Given the description of an element on the screen output the (x, y) to click on. 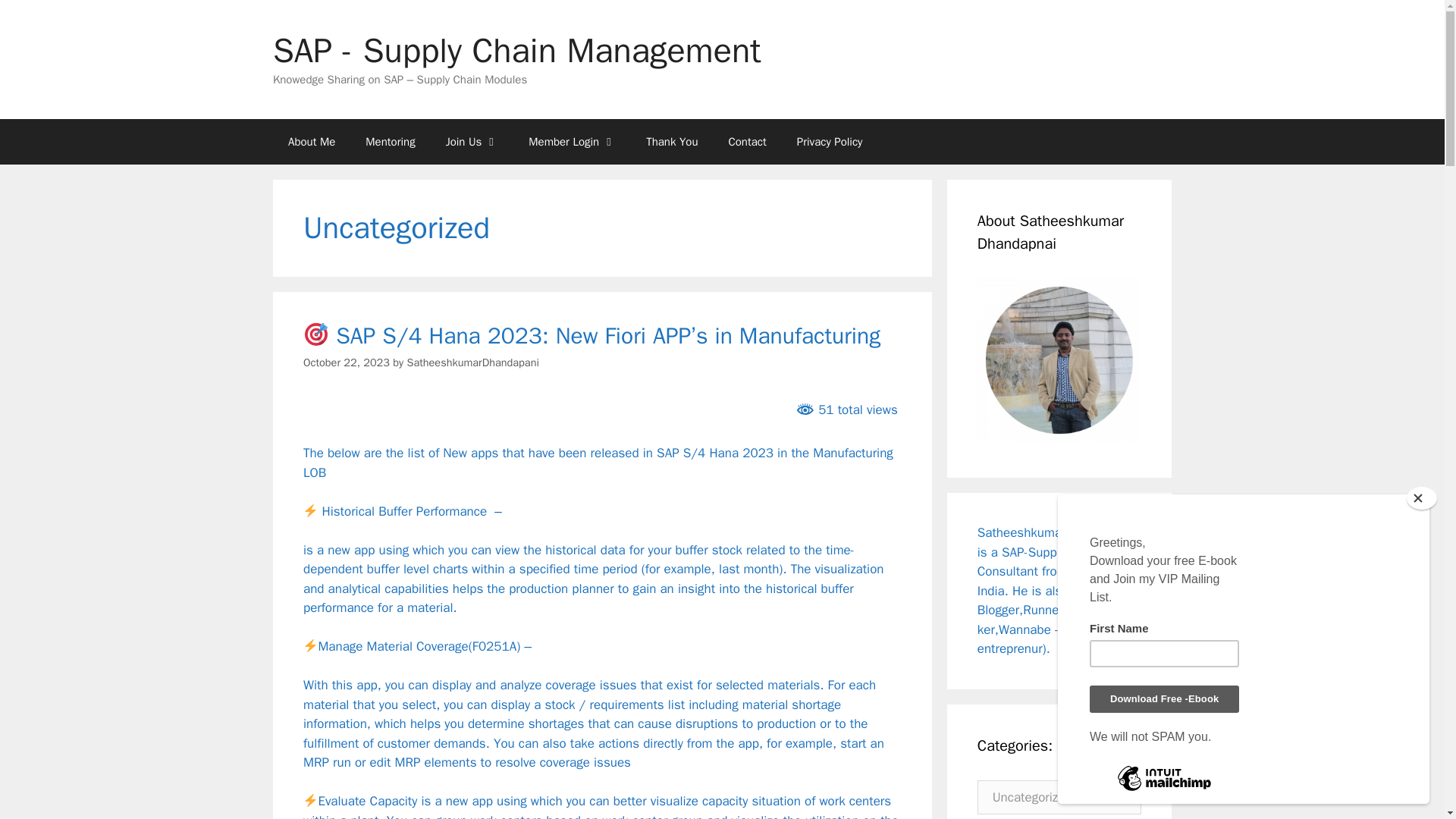
October 22, 2023 (346, 362)
SatheeshkumarDhandapani (472, 362)
About Me (311, 140)
Contact (746, 140)
View all posts by SatheeshkumarDhandapani (472, 362)
Join Us (471, 140)
7:55 am (346, 362)
Member Login (571, 140)
Thank You (671, 140)
Mentoring (389, 140)
SAP - Supply Chain Management (517, 50)
Privacy Policy (829, 140)
